Given the description of an element on the screen output the (x, y) to click on. 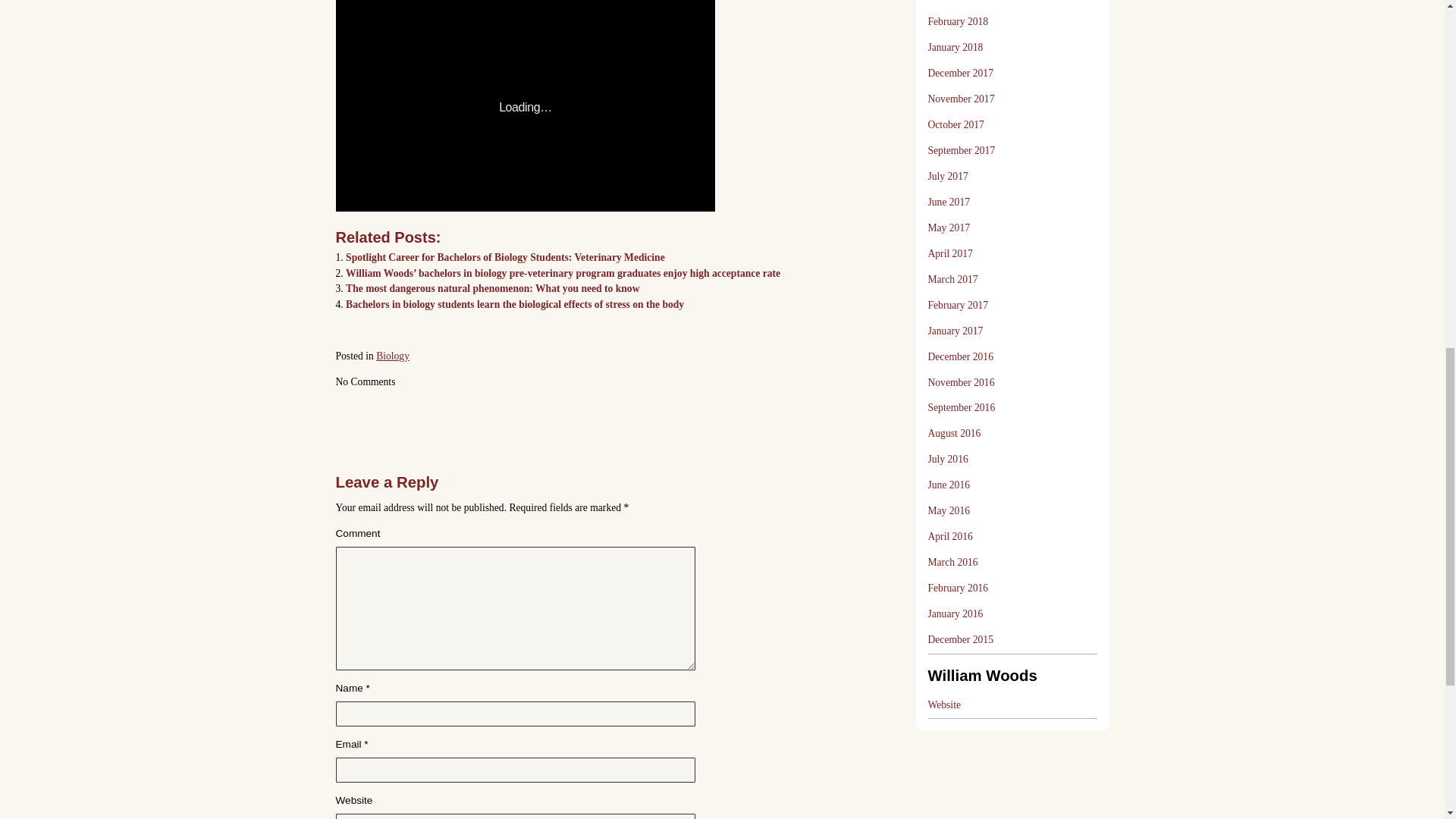
The most dangerous natural phenomenon: What you need to know (492, 288)
The most dangerous natural phenomenon: What you need to know (492, 288)
Biology (392, 355)
